Given the description of an element on the screen output the (x, y) to click on. 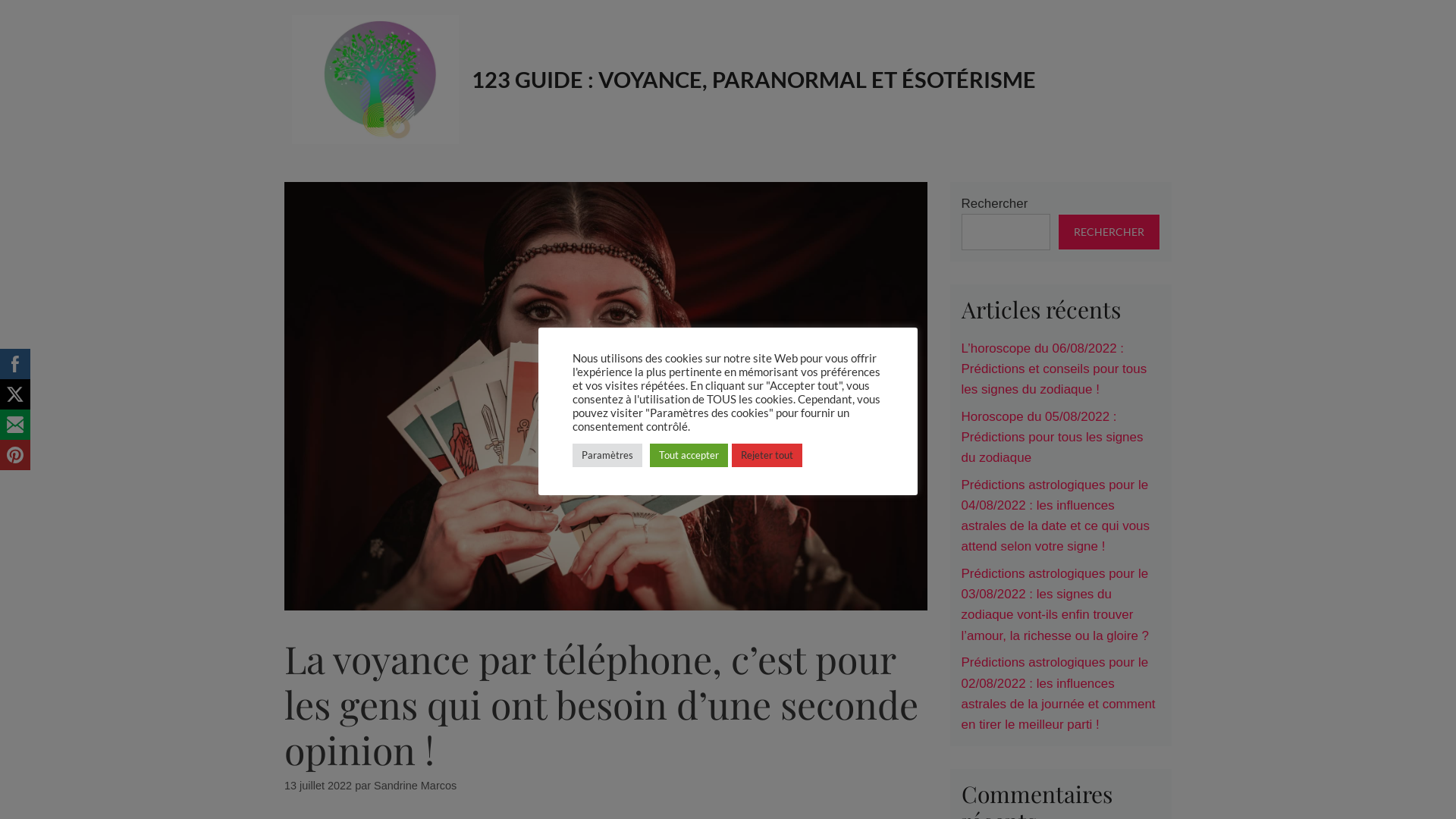
Sandrine Marcos Element type: text (414, 785)
Rejeter tout Element type: text (766, 454)
Tout accepter Element type: text (688, 454)
RECHERCHER Element type: text (1108, 231)
